Given the description of an element on the screen output the (x, y) to click on. 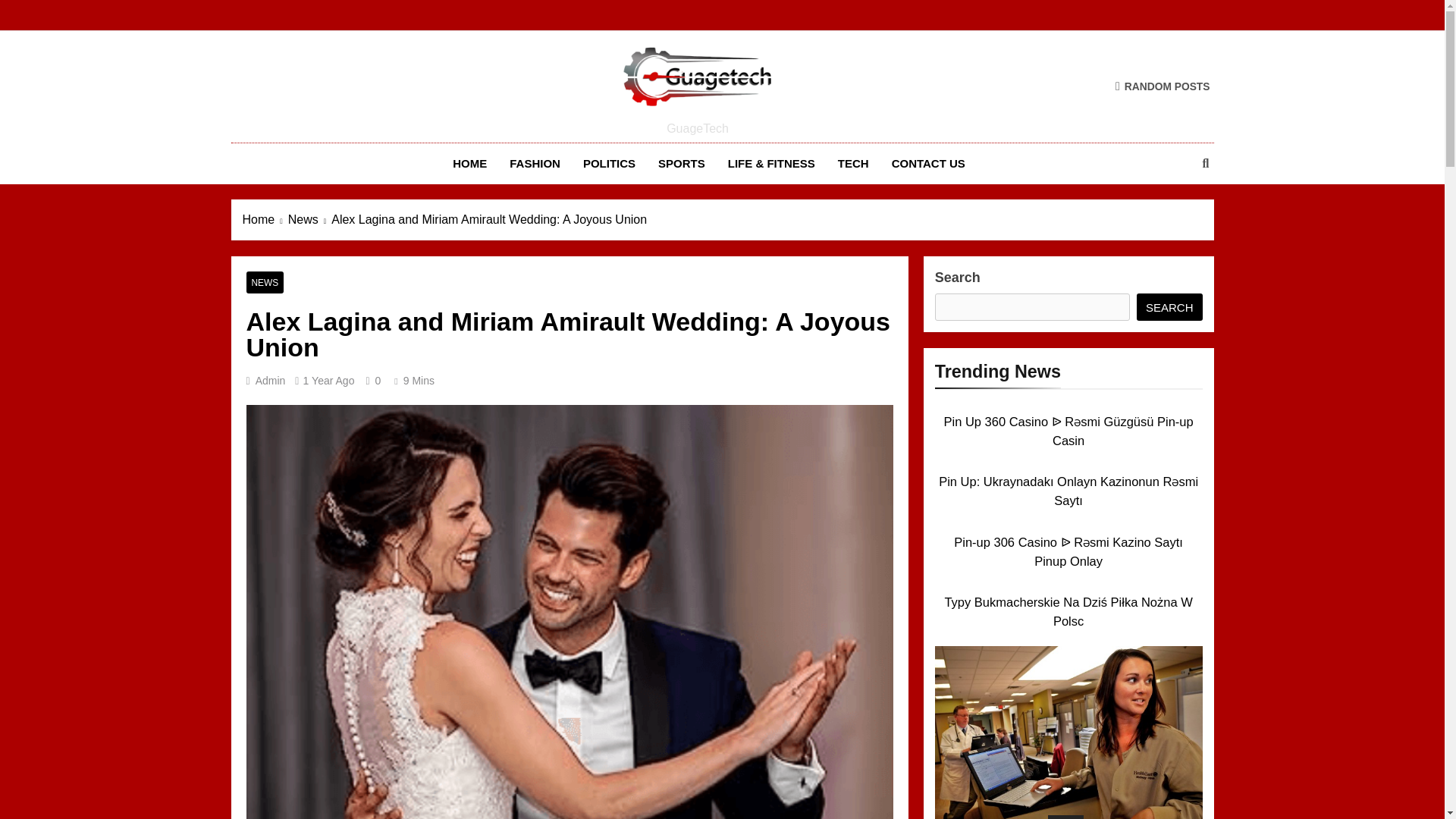
1 Year Ago (327, 380)
Admin (270, 380)
News (309, 219)
CONTACT US (928, 163)
POLITICS (609, 163)
FASHION (534, 163)
Home (265, 219)
TECH (853, 163)
RANDOM POSTS (1162, 85)
HOME (469, 163)
